Given the description of an element on the screen output the (x, y) to click on. 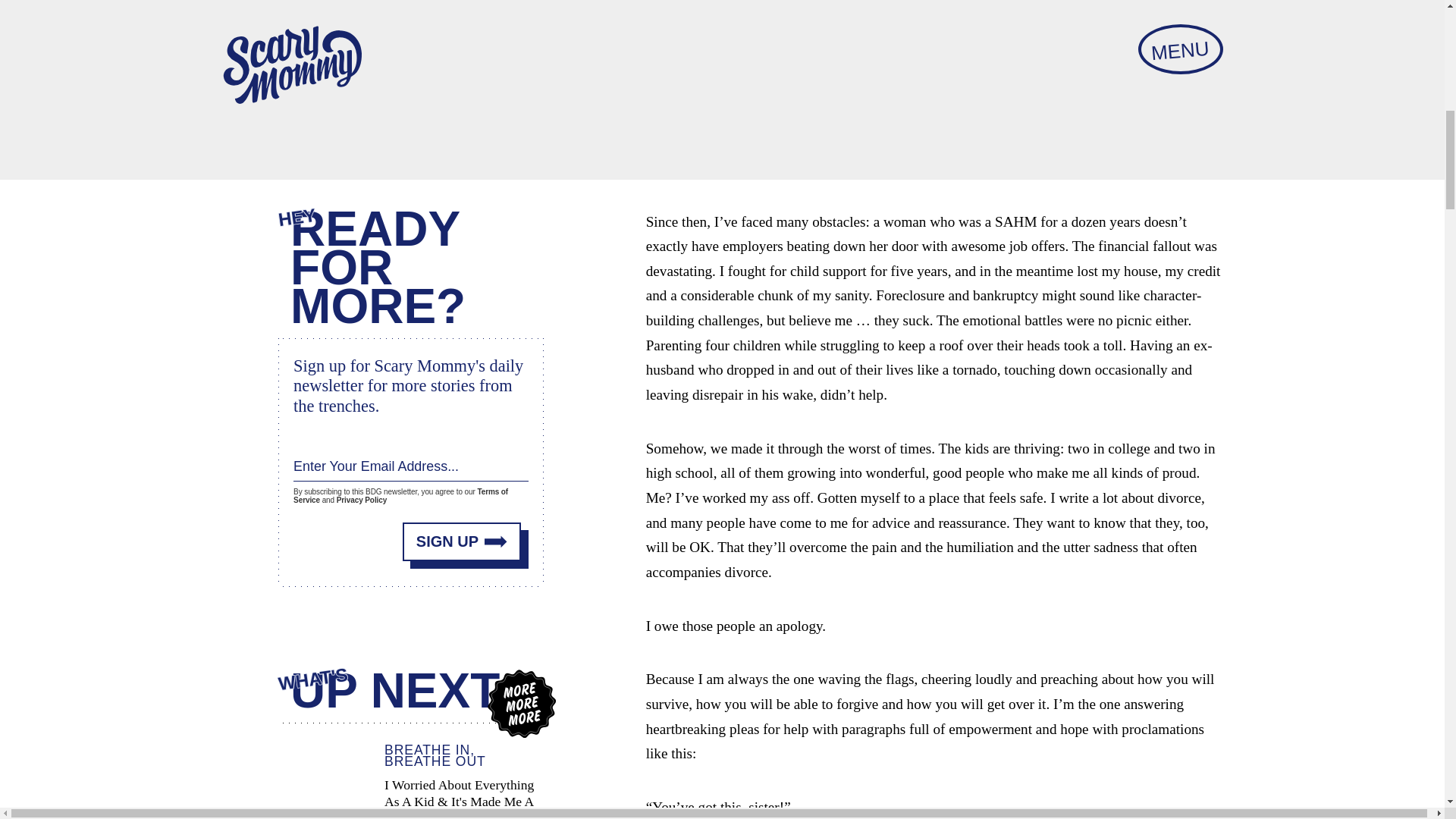
Terms of Service (401, 493)
Privacy Policy (361, 497)
SIGN UP (462, 537)
